Given the description of an element on the screen output the (x, y) to click on. 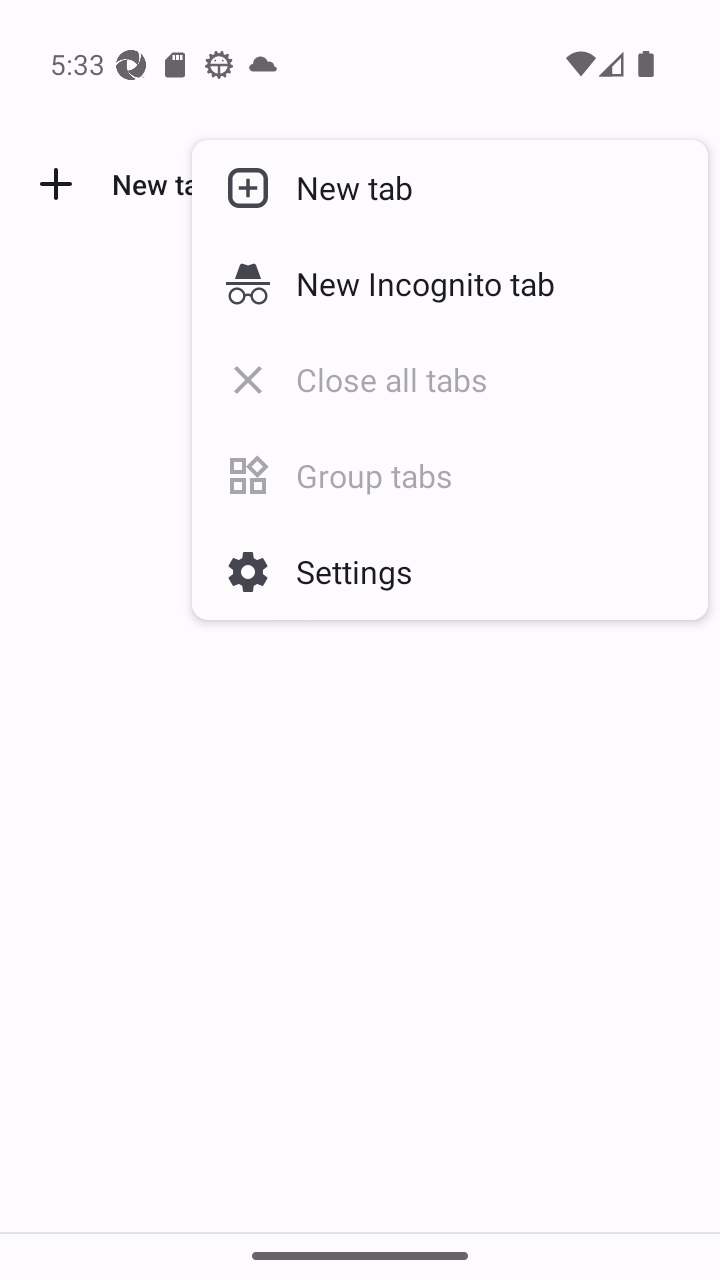
New tab (449, 187)
New Incognito tab (449, 283)
Close all tabs (449, 379)
Group tabs (449, 475)
Settings (449, 571)
